Given the description of an element on the screen output the (x, y) to click on. 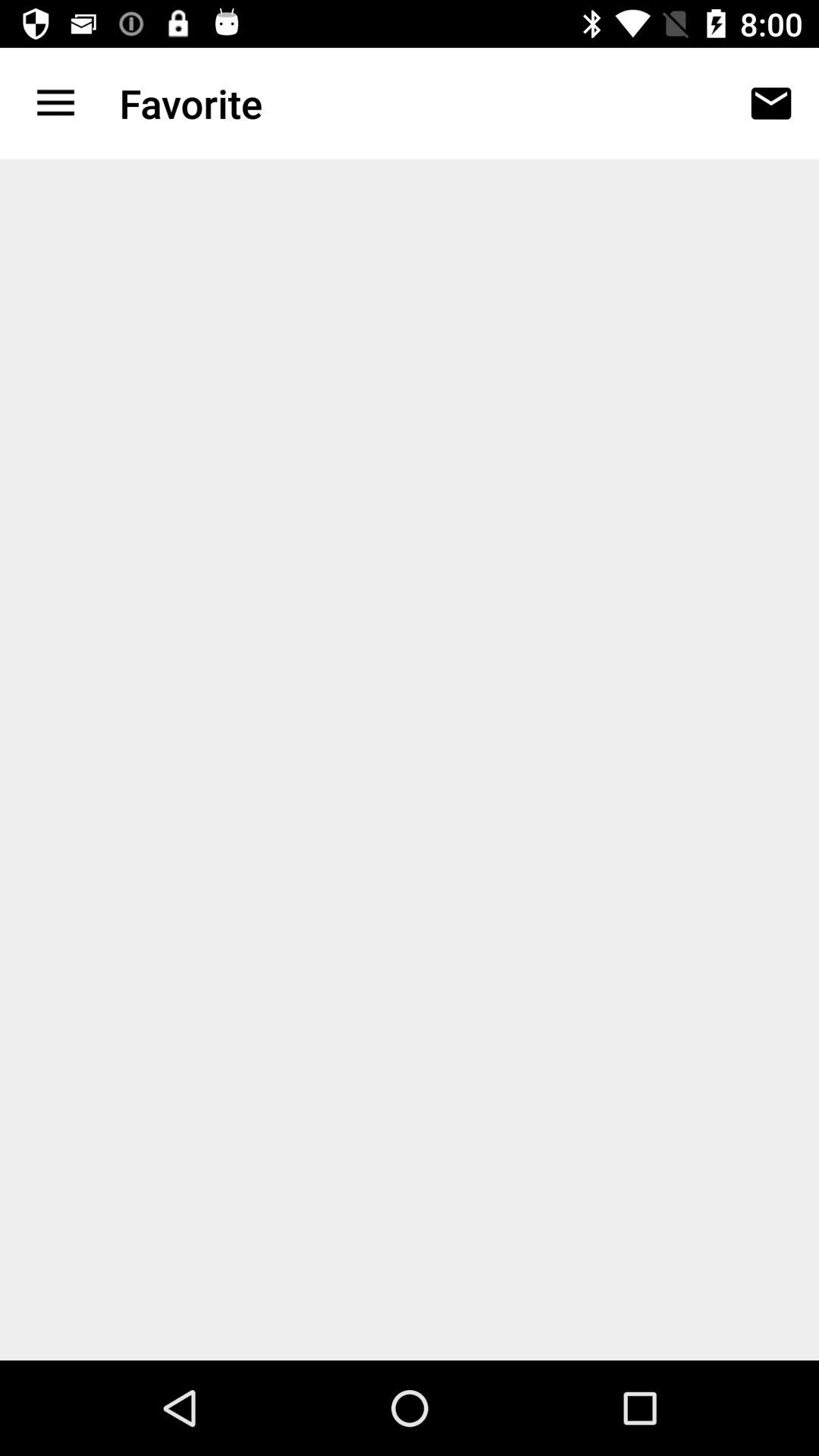
open the app to the left of favorite (55, 103)
